Given the description of an element on the screen output the (x, y) to click on. 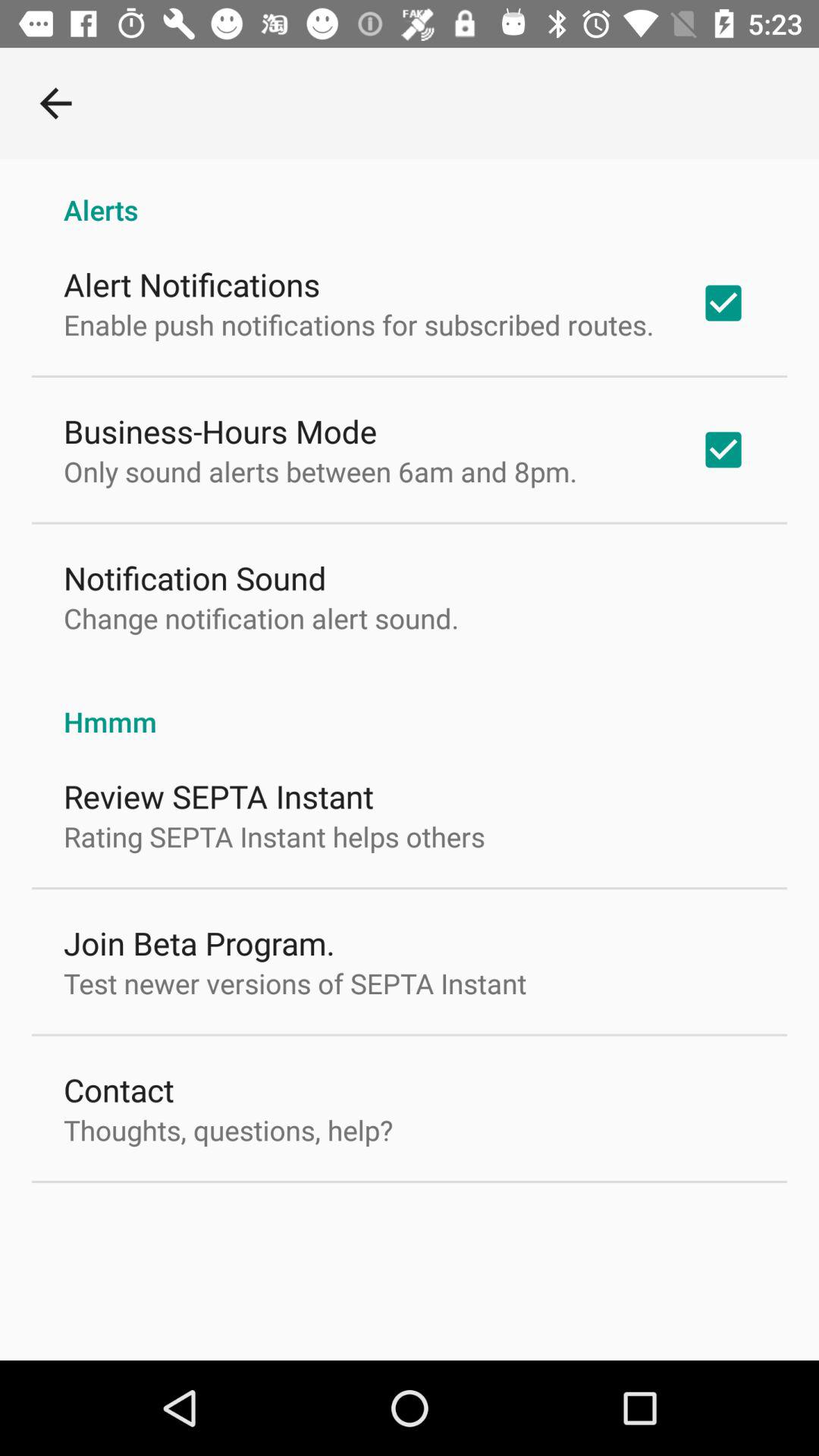
press the icon above the review septa instant (409, 705)
